Given the description of an element on the screen output the (x, y) to click on. 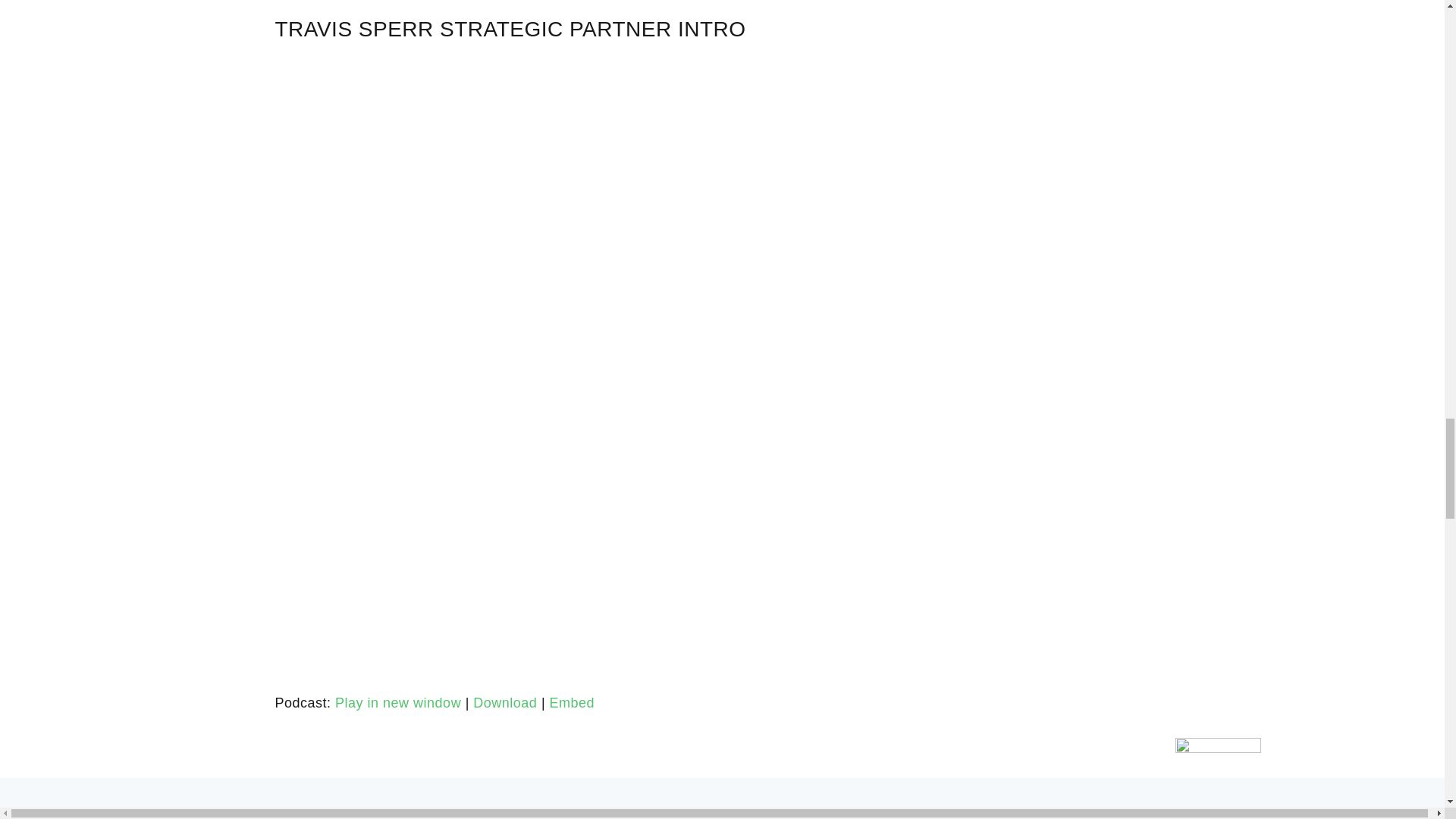
Download (505, 702)
Blubrry Podcast Player (722, 623)
Embed (572, 702)
Play in new window (397, 702)
